Given the description of an element on the screen output the (x, y) to click on. 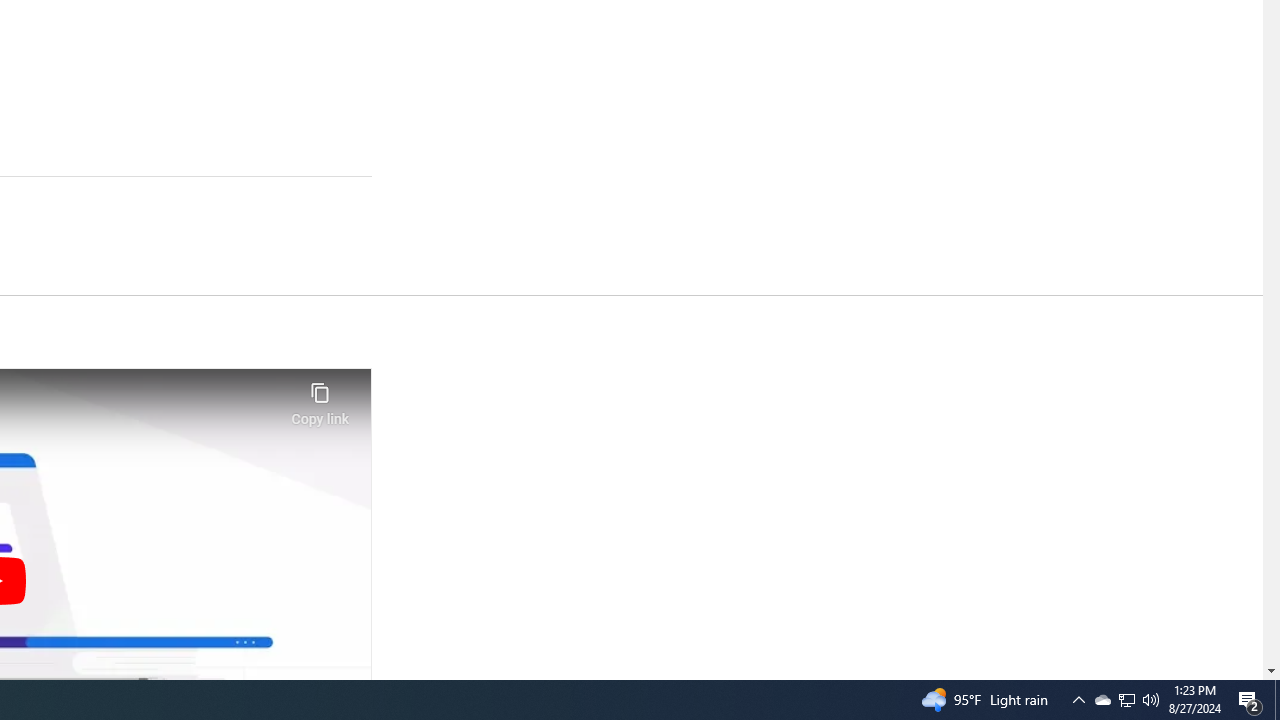
Copy link (319, 398)
